Given the description of an element on the screen output the (x, y) to click on. 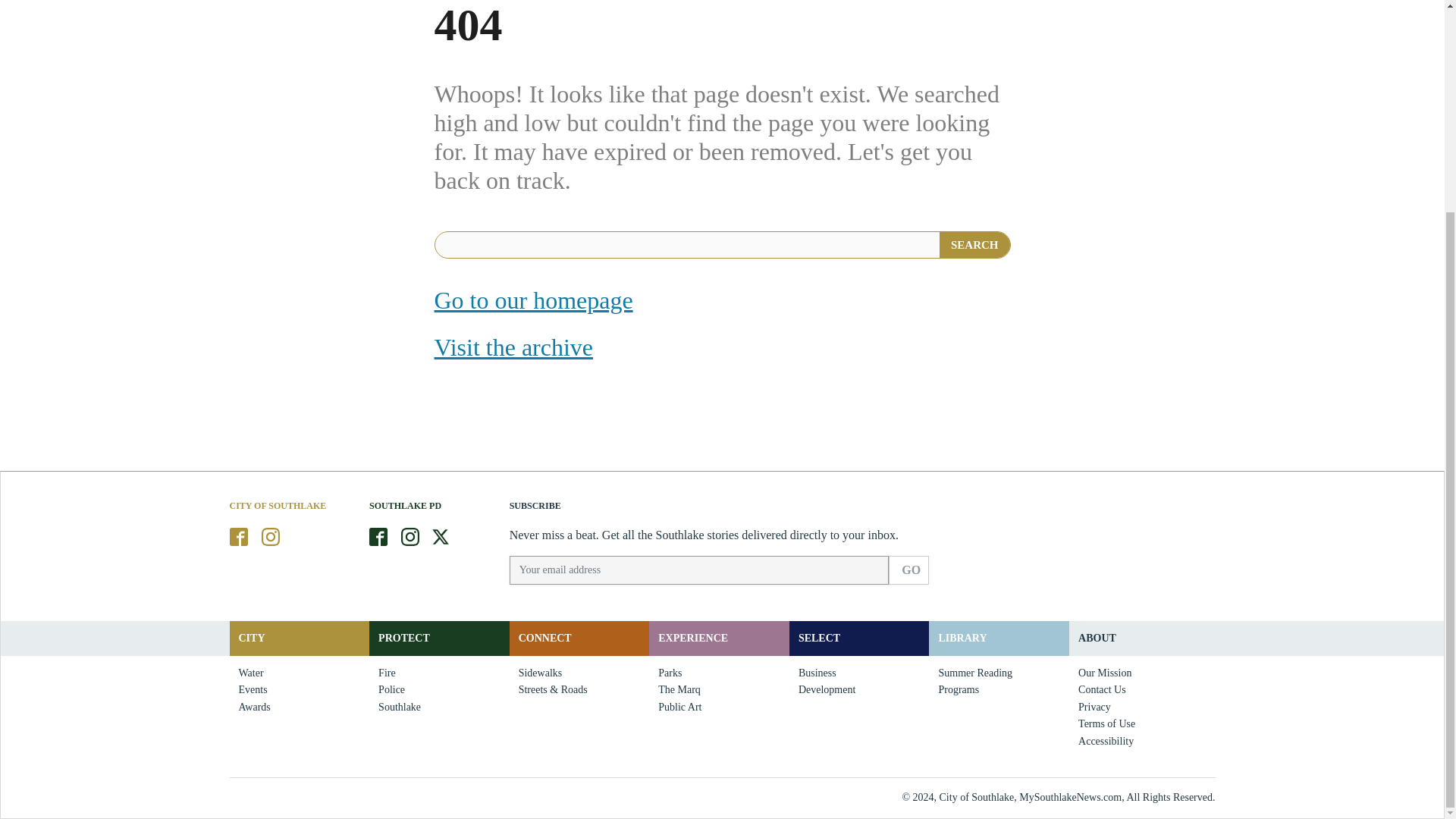
PROTECT (403, 637)
Programs (958, 689)
Events (252, 689)
Southlake (399, 707)
Search (974, 244)
Public Art (679, 707)
Parks (669, 673)
Privacy (1093, 707)
Water (250, 673)
Go to our homepage (532, 299)
